Given the description of an element on the screen output the (x, y) to click on. 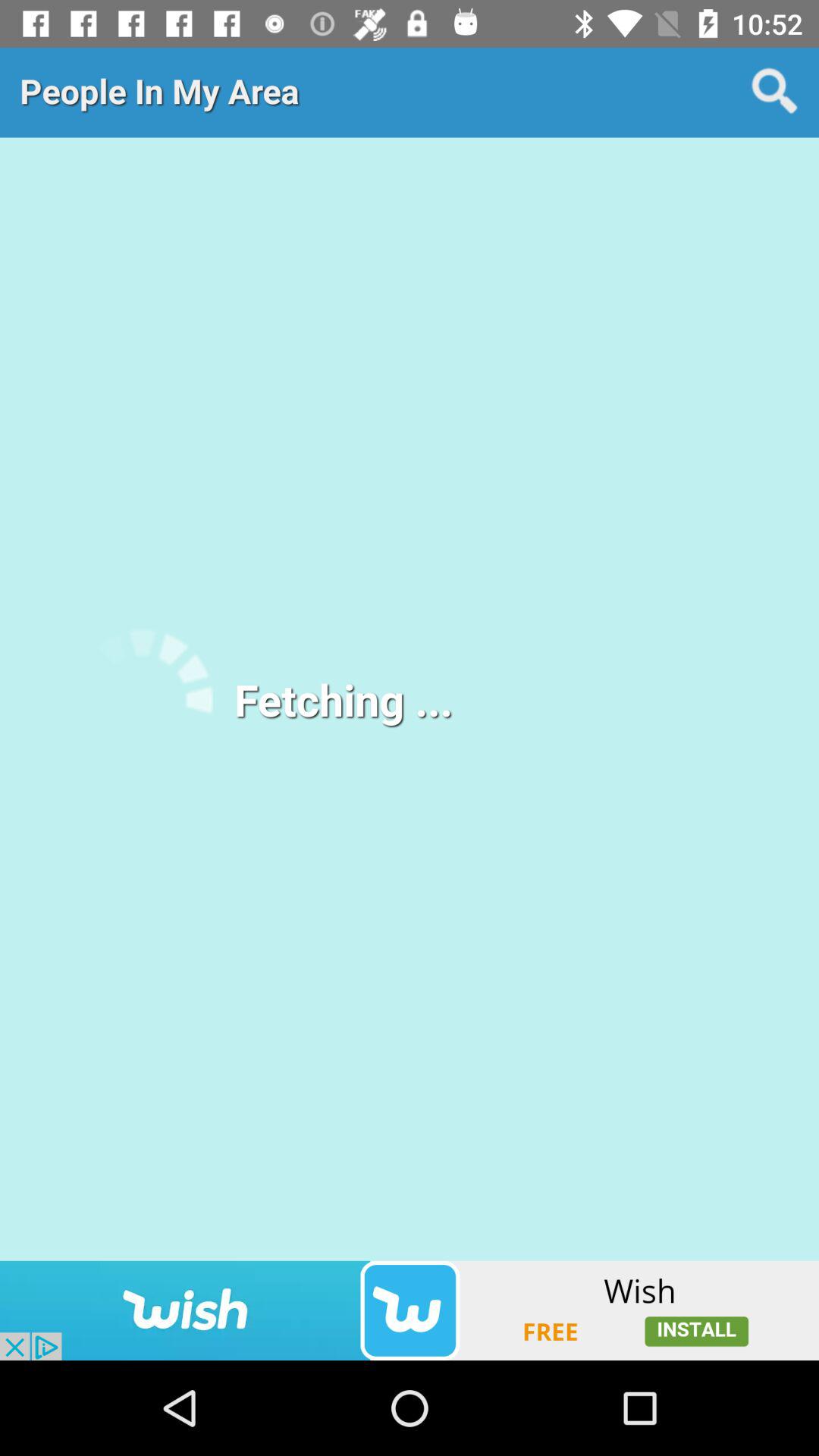
shows search icon (774, 91)
